Given the description of an element on the screen output the (x, y) to click on. 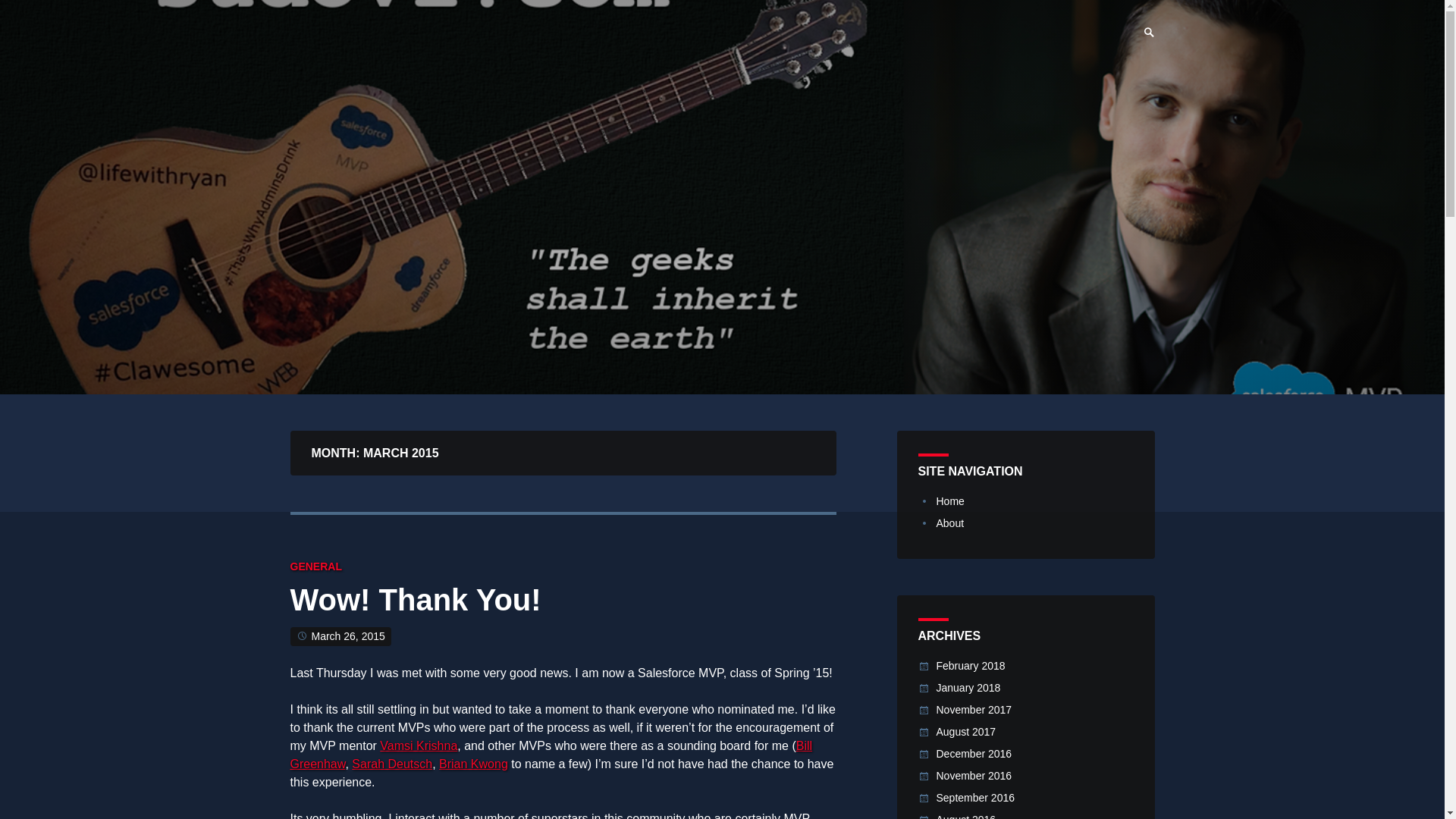
Vamsi Krishna (418, 745)
Brian Kwong (473, 763)
GENERAL (314, 566)
Wow! Thank You! (414, 604)
Bill Greenhaw (550, 754)
Vamsi Krishna (418, 745)
sudo vi (331, 29)
Sarah Deutsch (392, 763)
Sarah Deutsch (392, 763)
Bill Greenhaw (550, 754)
